Given the description of an element on the screen output the (x, y) to click on. 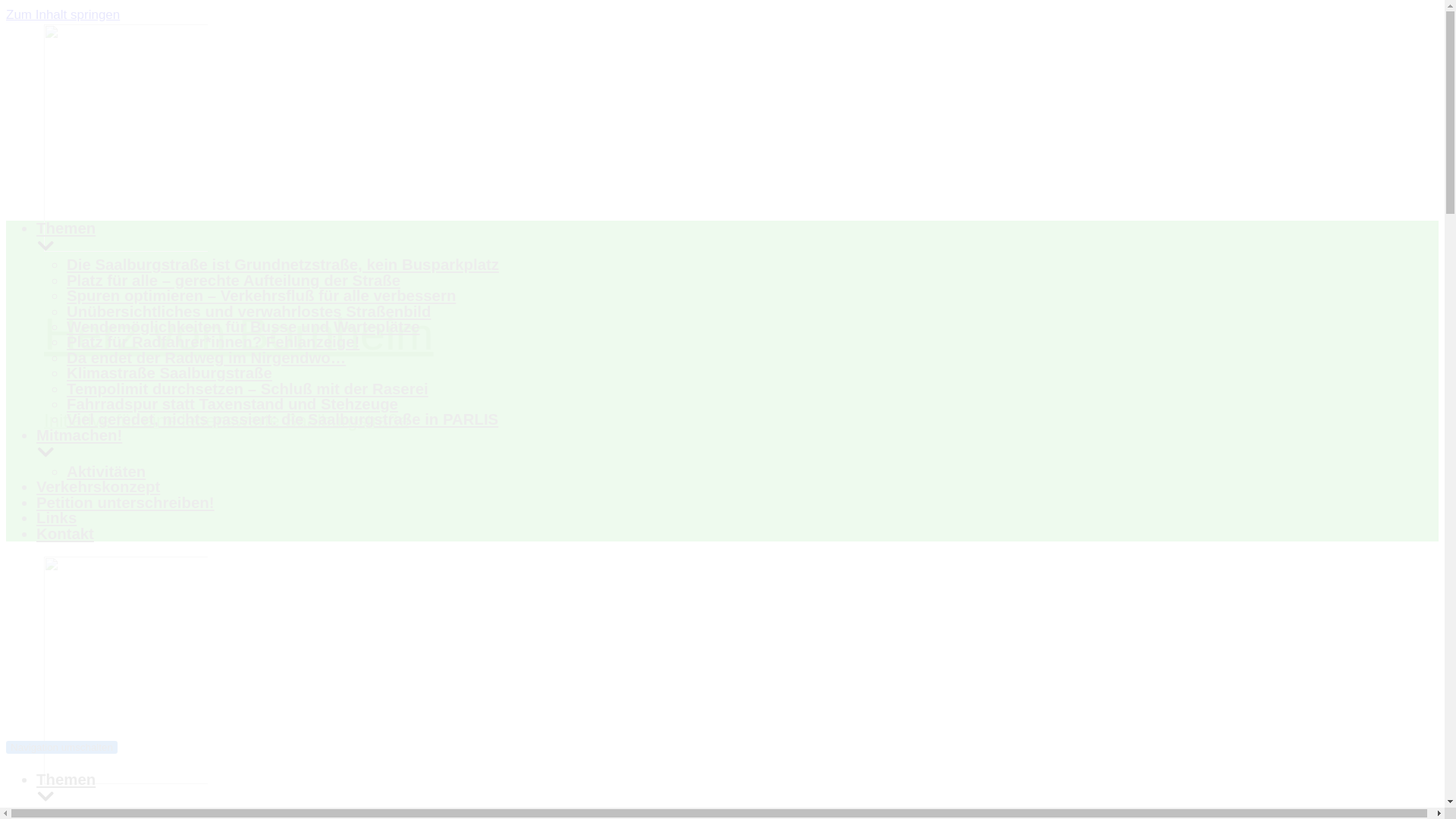
Petition unterschreiben! (125, 502)
Themen (693, 238)
Mitmachen! (693, 445)
Navigation umschalten (61, 747)
Zum Inhalt springen (62, 14)
Kontakt (65, 533)
Links (56, 517)
Fahrradspur statt Taxenstand und Stehzeuge (231, 403)
Themen (147, 789)
Verkehrskonzept (98, 486)
